Given the description of an element on the screen output the (x, y) to click on. 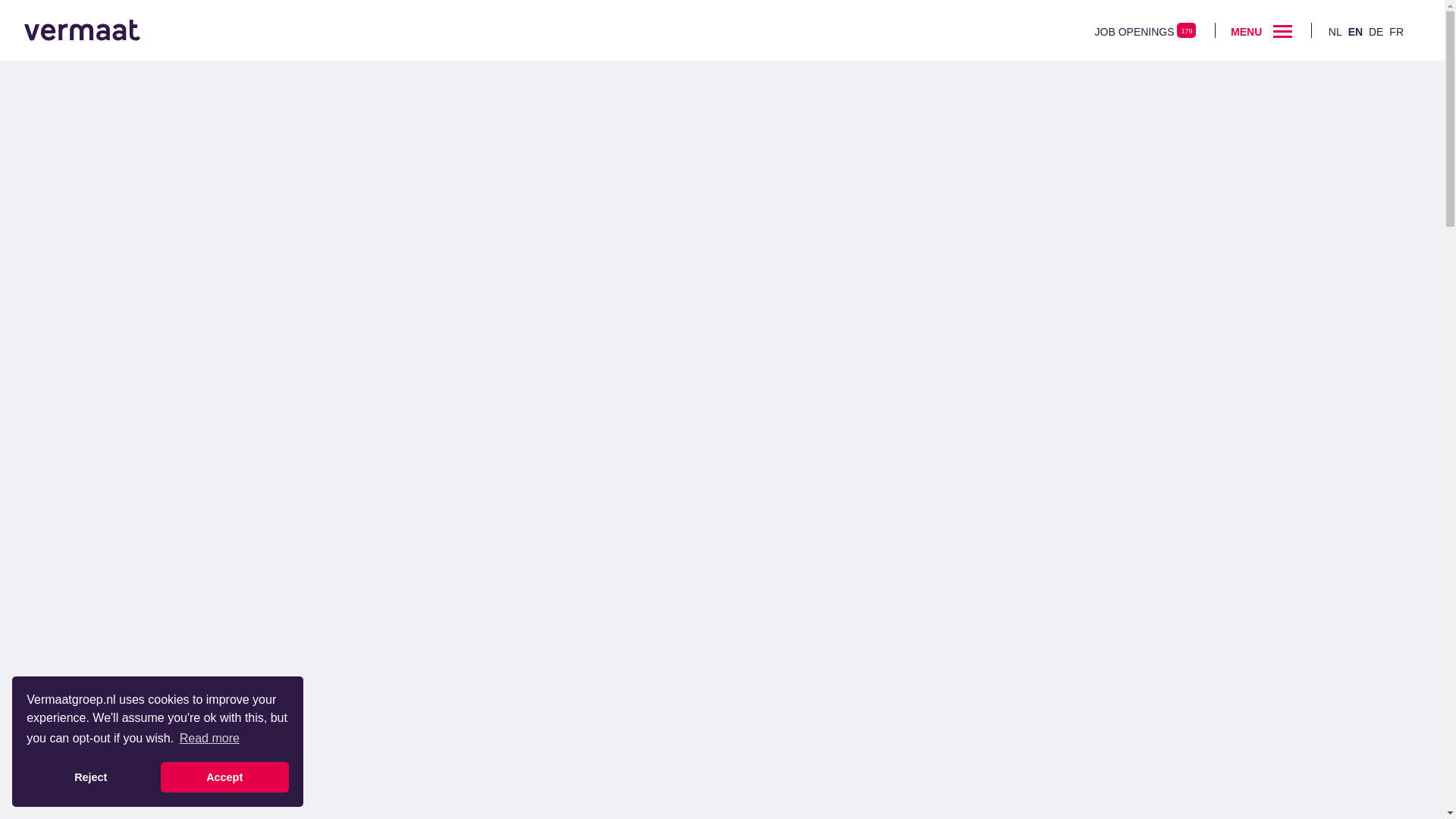
EN (1355, 31)
JOB OPENINGS (1134, 31)
Vermaatgroep (81, 29)
Vermaatgroep (81, 29)
Accept (224, 777)
NL (1334, 31)
Read more (210, 738)
DE (1375, 31)
FR (1396, 31)
Reject (90, 777)
